Given the description of an element on the screen output the (x, y) to click on. 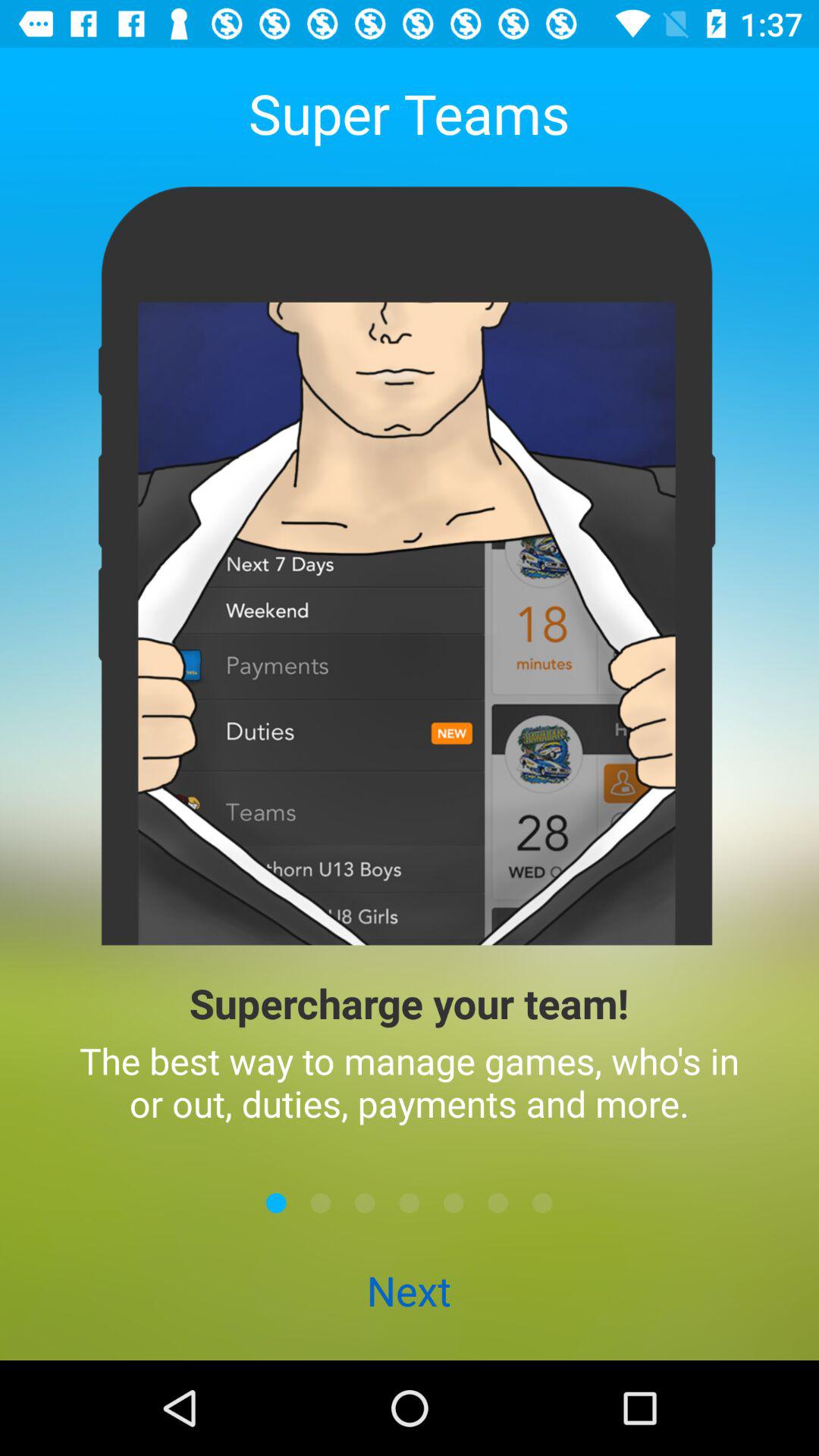
next button (453, 1203)
